Given the description of an element on the screen output the (x, y) to click on. 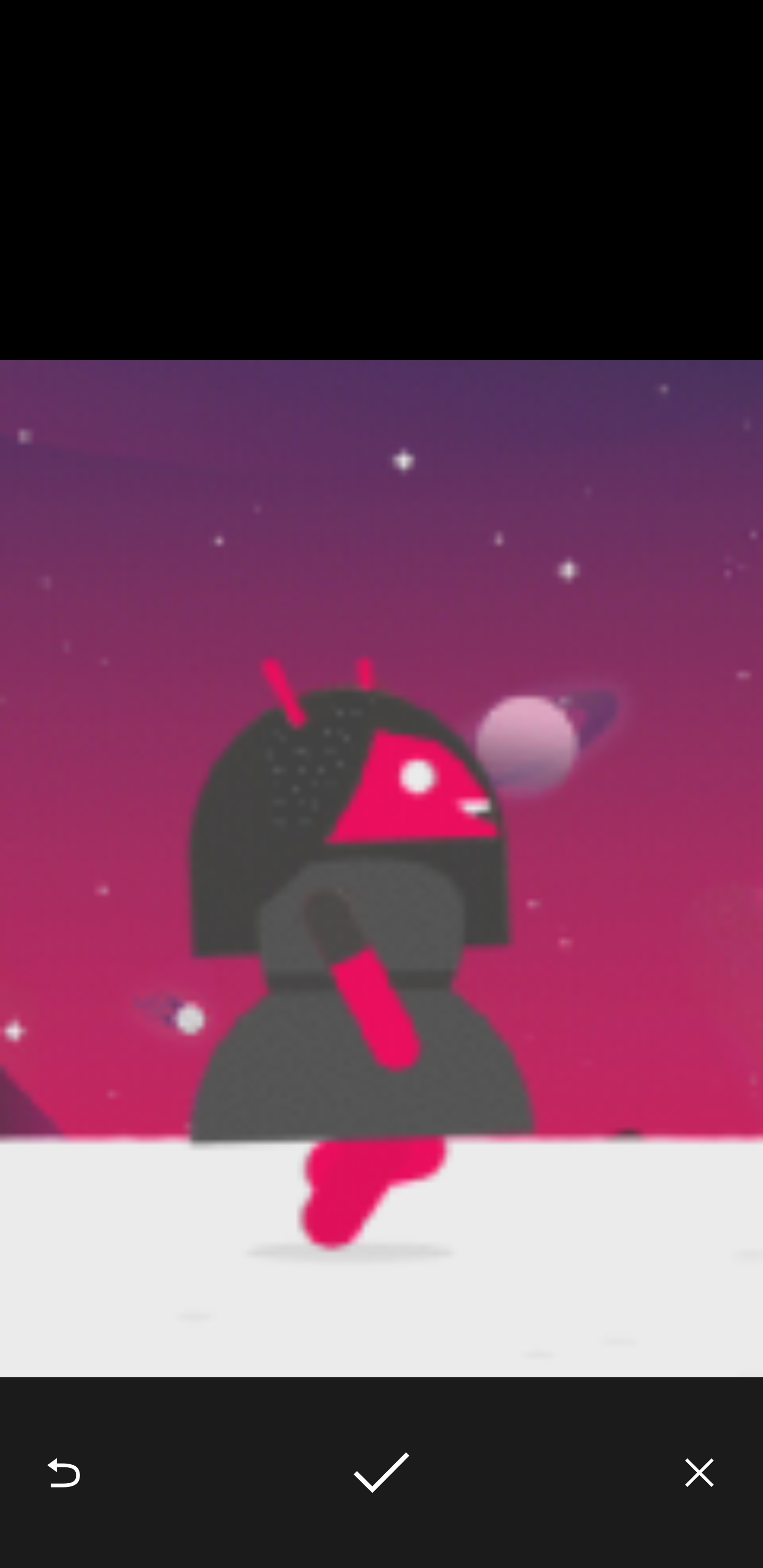
Done (381, 1472)
Retake (63, 1472)
Cancel (699, 1472)
